Given the description of an element on the screen output the (x, y) to click on. 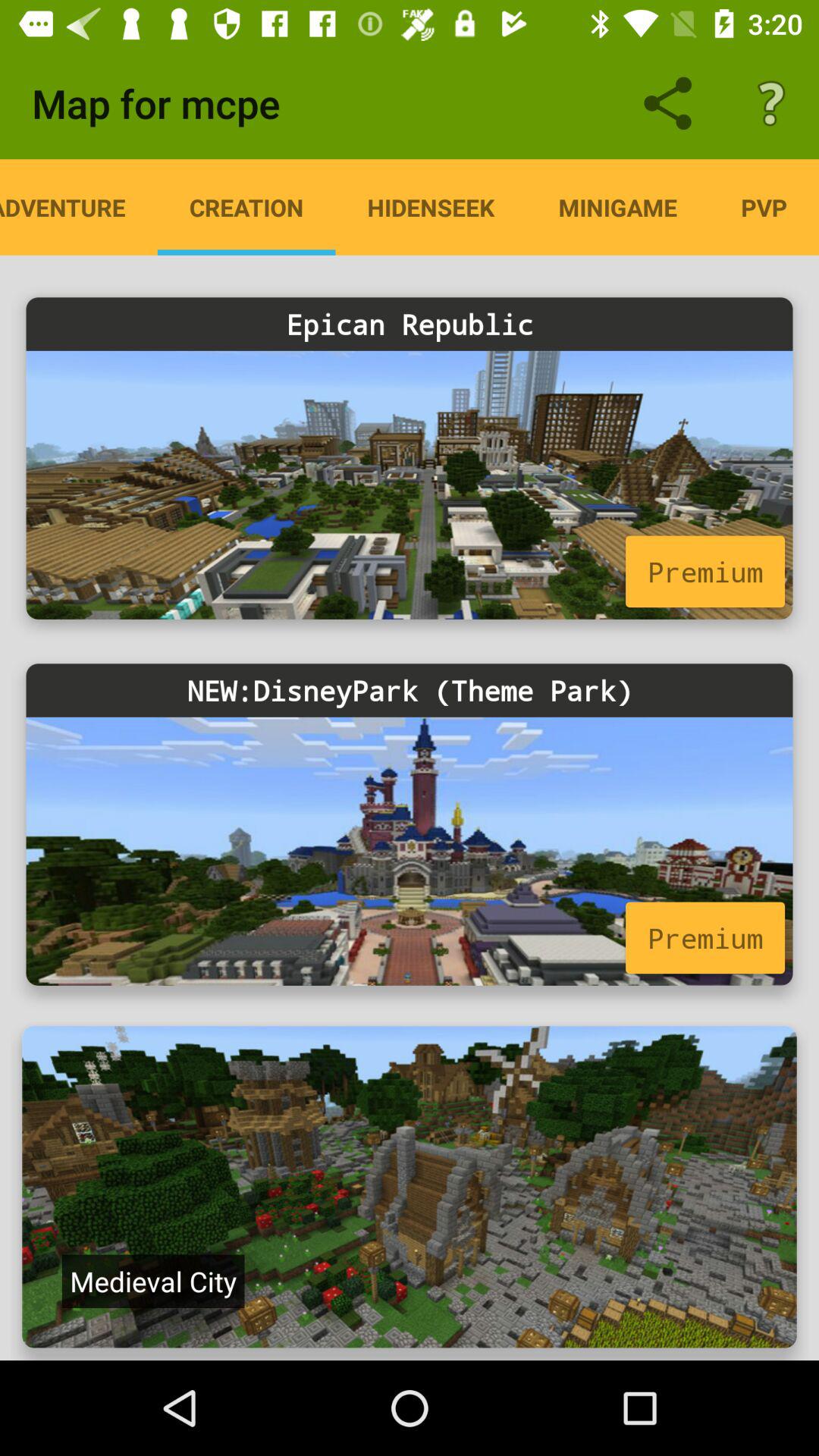
upgrade to premium (409, 484)
